Given the description of an element on the screen output the (x, y) to click on. 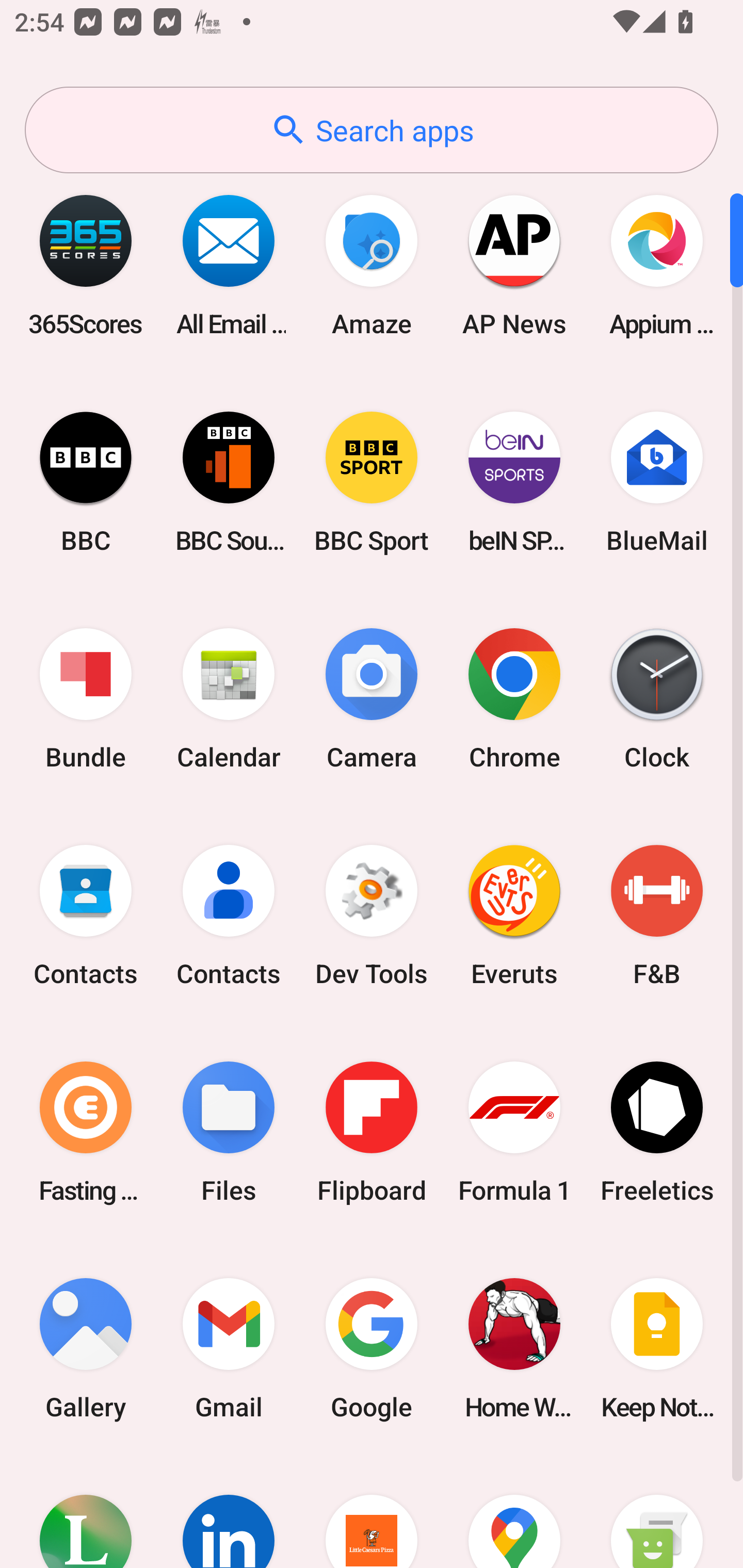
  Search apps (371, 130)
365Scores (85, 264)
All Email Connect (228, 264)
Amaze (371, 264)
AP News (514, 264)
Appium Settings (656, 264)
BBC (85, 482)
BBC Sounds (228, 482)
BBC Sport (371, 482)
beIN SPORTS (514, 482)
BlueMail (656, 482)
Bundle (85, 699)
Calendar (228, 699)
Camera (371, 699)
Chrome (514, 699)
Clock (656, 699)
Contacts (85, 915)
Contacts (228, 915)
Dev Tools (371, 915)
Everuts (514, 915)
F&B (656, 915)
Fasting Coach (85, 1131)
Files (228, 1131)
Flipboard (371, 1131)
Formula 1 (514, 1131)
Freeletics (656, 1131)
Gallery (85, 1348)
Gmail (228, 1348)
Google (371, 1348)
Home Workout (514, 1348)
Keep Notes (656, 1348)
